Given the description of an element on the screen output the (x, y) to click on. 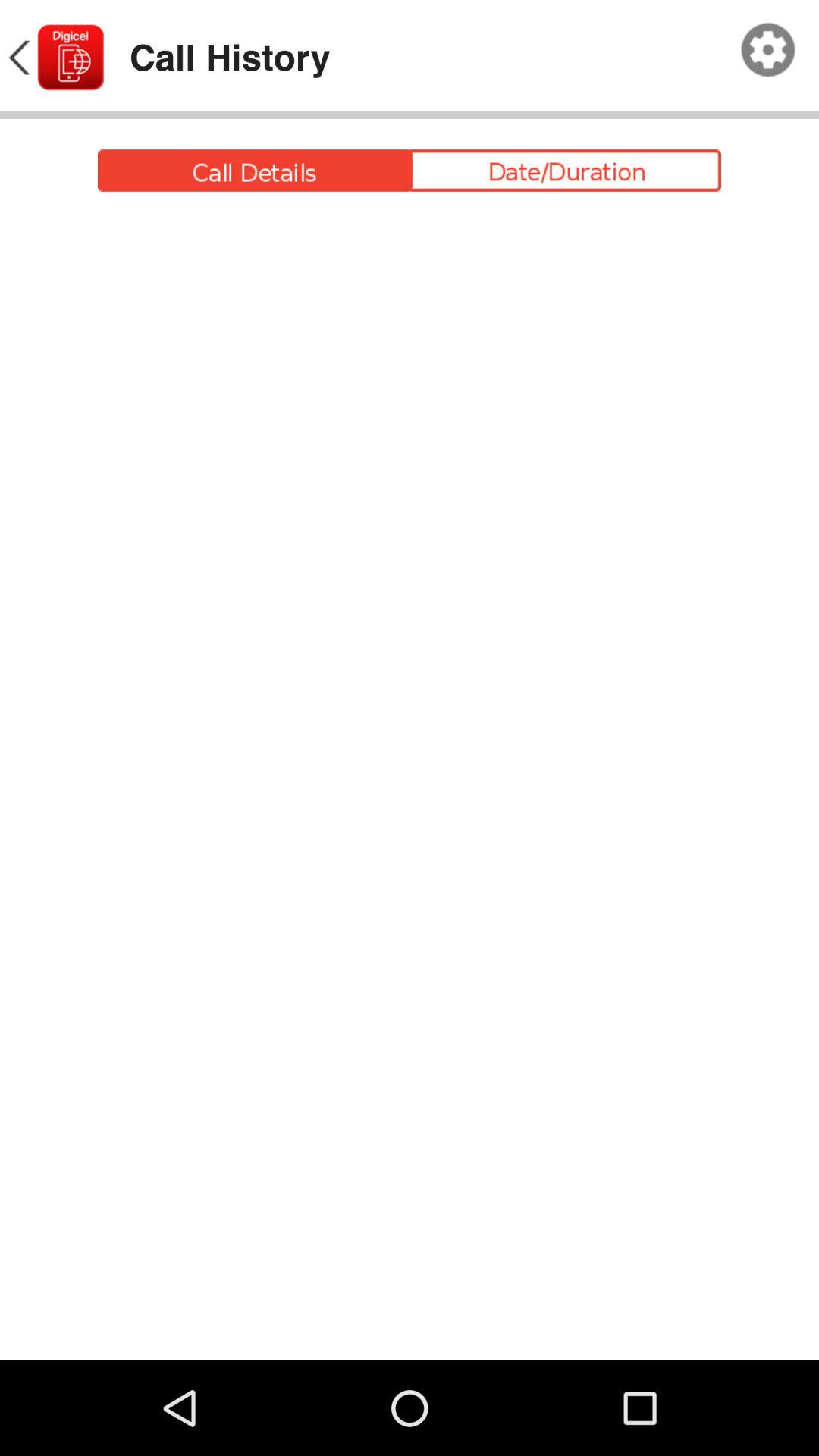
go to settings (768, 49)
